Given the description of an element on the screen output the (x, y) to click on. 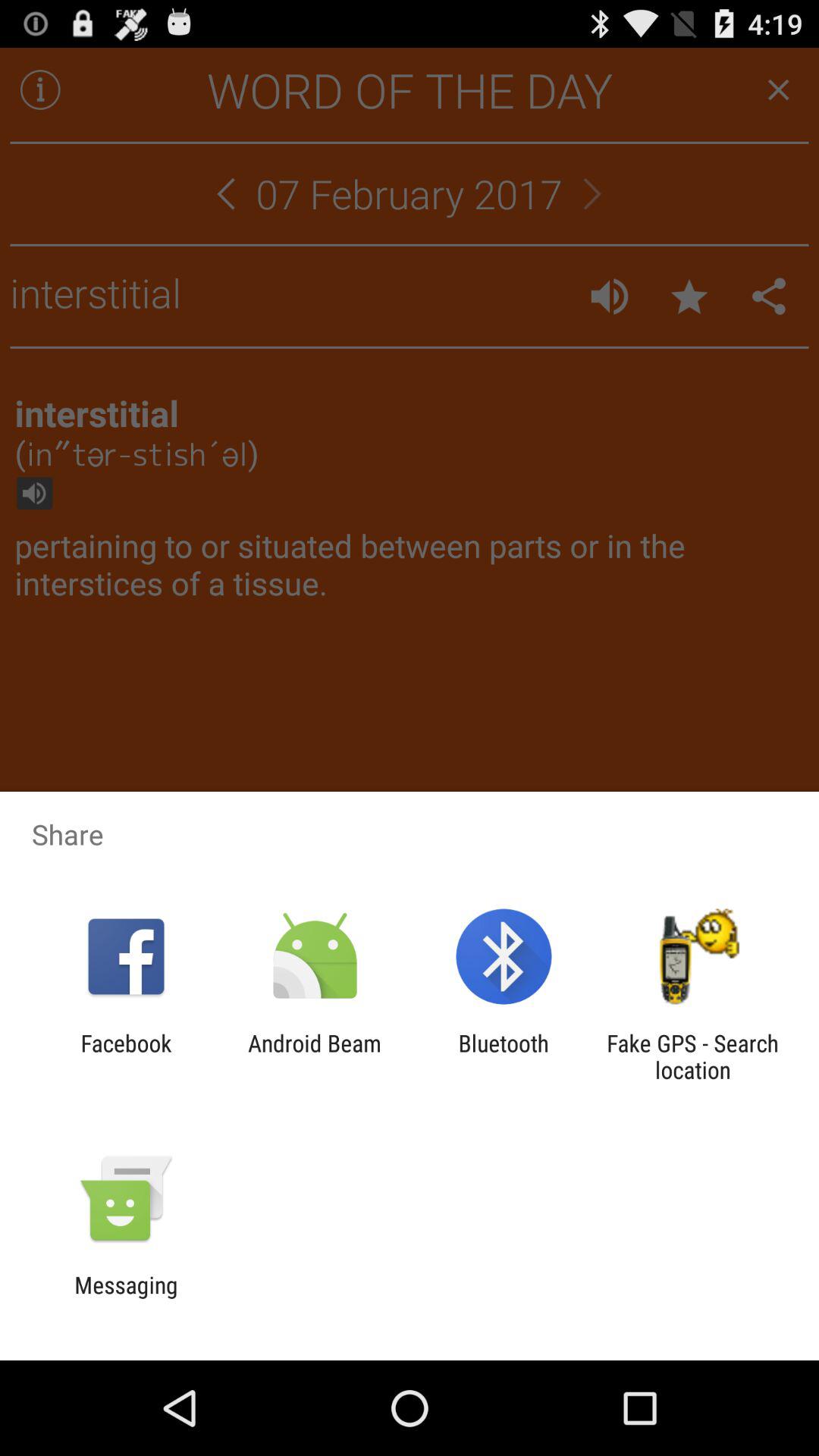
jump until the messaging (126, 1298)
